Given the description of an element on the screen output the (x, y) to click on. 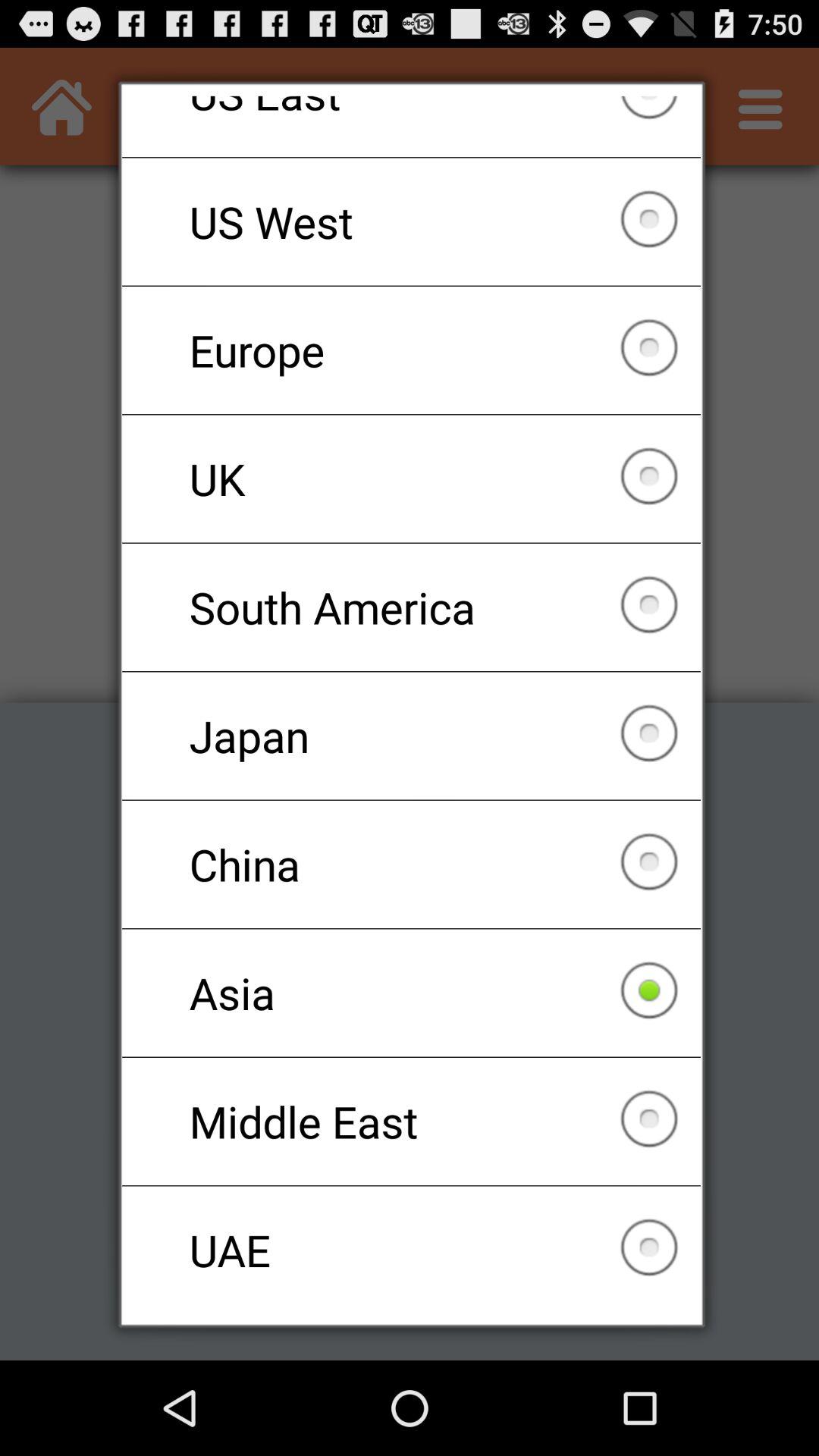
swipe to the     china item (411, 864)
